Given the description of an element on the screen output the (x, y) to click on. 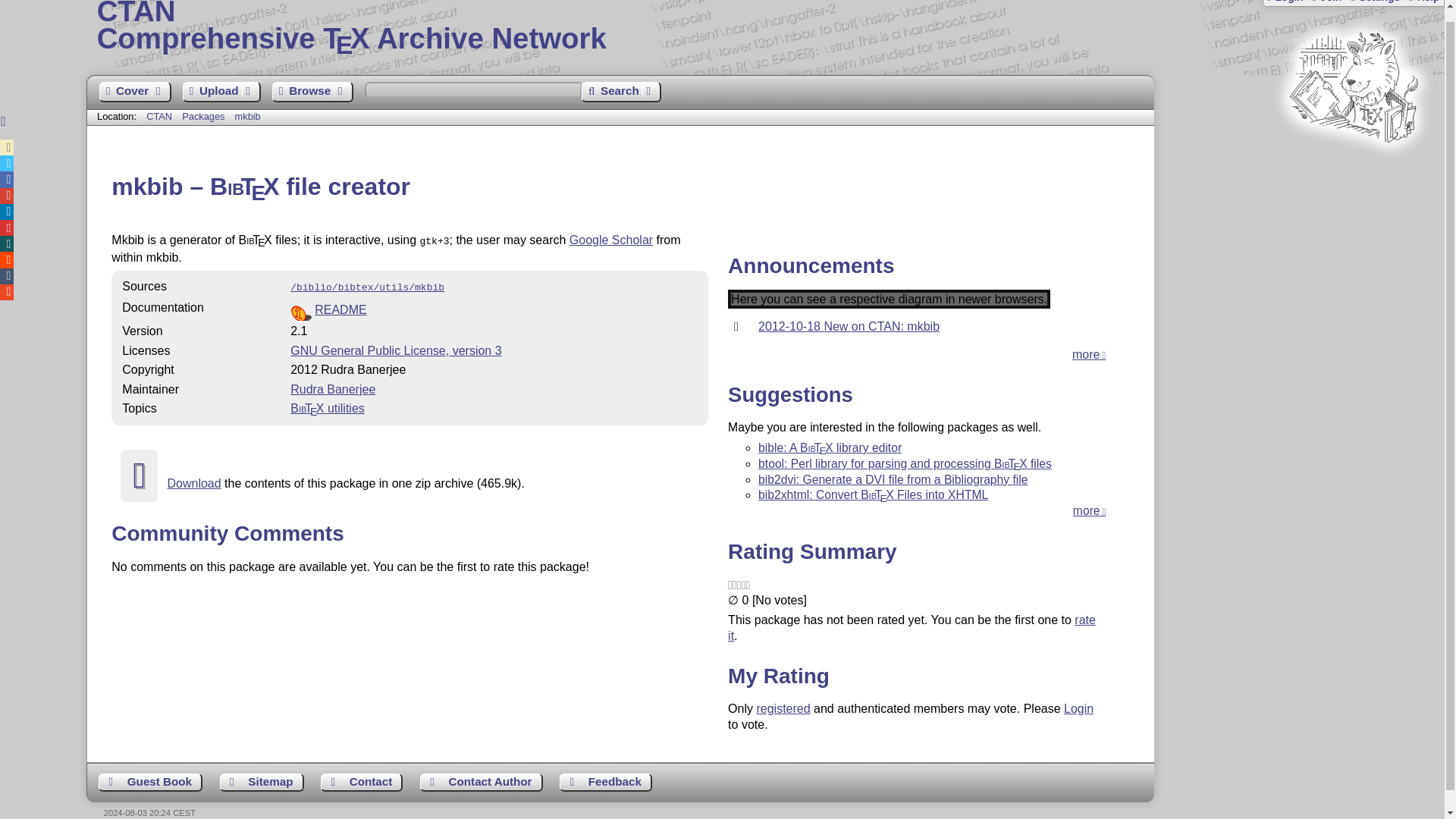
Get contact information for the Web site (361, 782)
Spectrum indicating the announcements for the package (888, 298)
Browse (312, 91)
mkbib (247, 116)
Login (1284, 2)
Packages (204, 116)
README (340, 309)
Help (1423, 2)
Cover (134, 91)
Register a new personal account on this site (1325, 2)
